Given the description of an element on the screen output the (x, y) to click on. 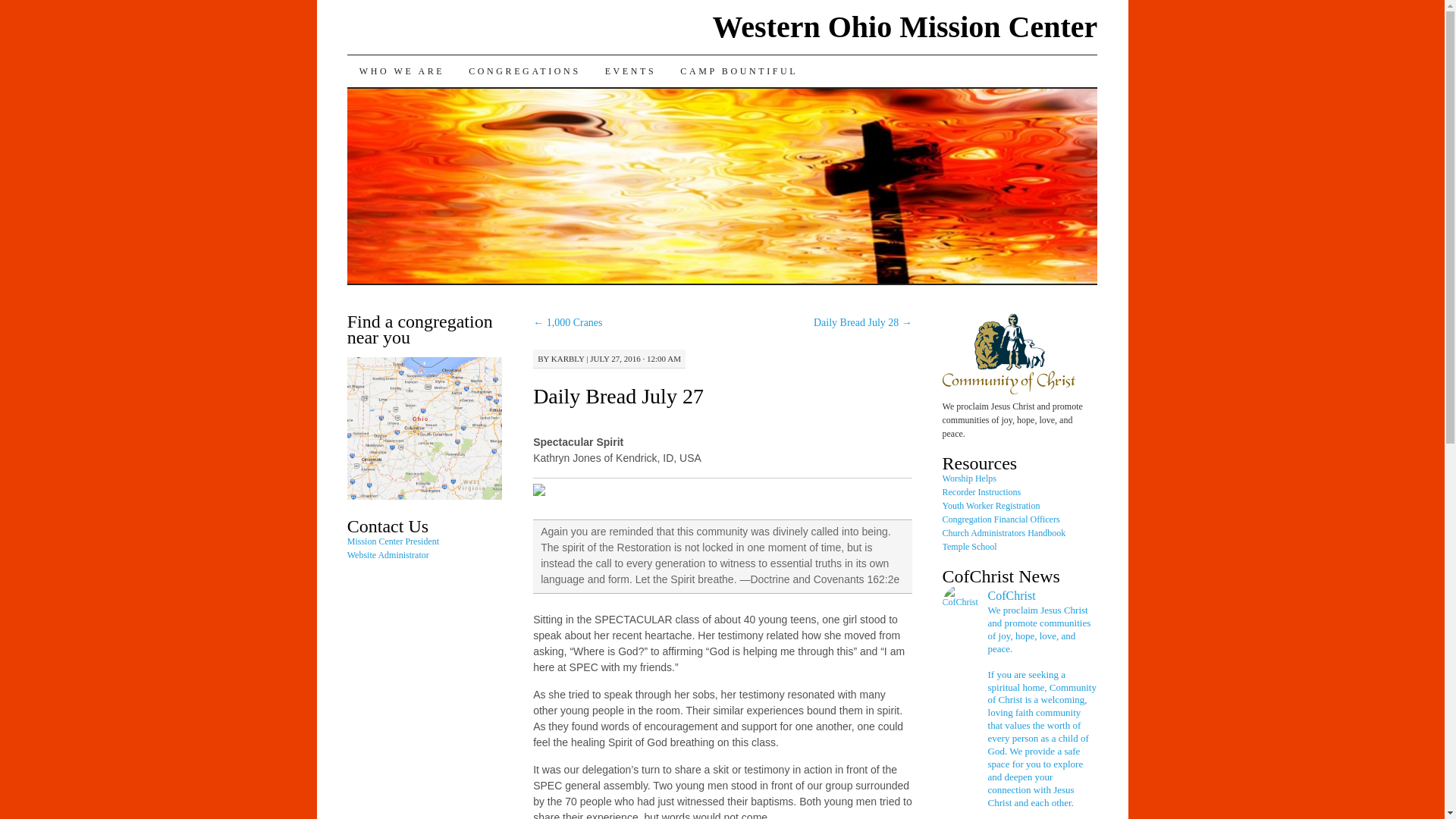
WHO WE ARE (402, 70)
Western Ohio Mission Center (905, 26)
CONGREGATIONS (524, 70)
Recorder Instructions (982, 491)
EVENTS (630, 70)
Website Administrator (388, 554)
Congregation Financial Officers (1000, 519)
Church Administrators Handbook (1003, 532)
Daily Bread July 27 (617, 395)
Mission Center President (393, 541)
Temple School (969, 546)
Western Ohio Mission Center (905, 26)
Youth Worker Registration (991, 505)
KARBLY (568, 358)
Worship Helps (968, 478)
